Given the description of an element on the screen output the (x, y) to click on. 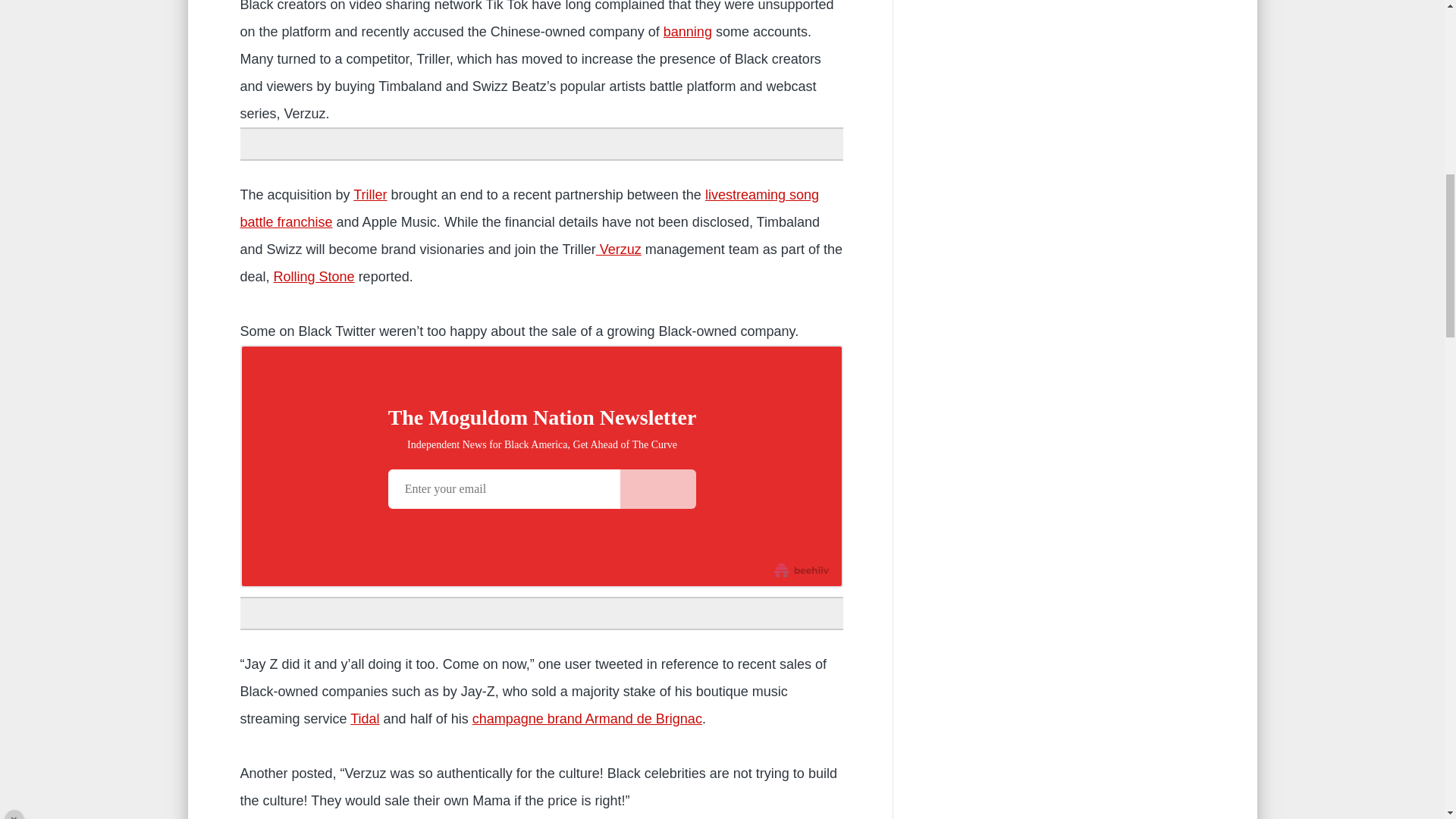
banning (687, 31)
Tidal (364, 718)
 Verzuz (618, 249)
livestreaming (745, 194)
champagne brand Armand de Brignac (586, 718)
Rolling Stone (314, 276)
 song battle franchise (529, 208)
Triller (370, 194)
